Given the description of an element on the screen output the (x, y) to click on. 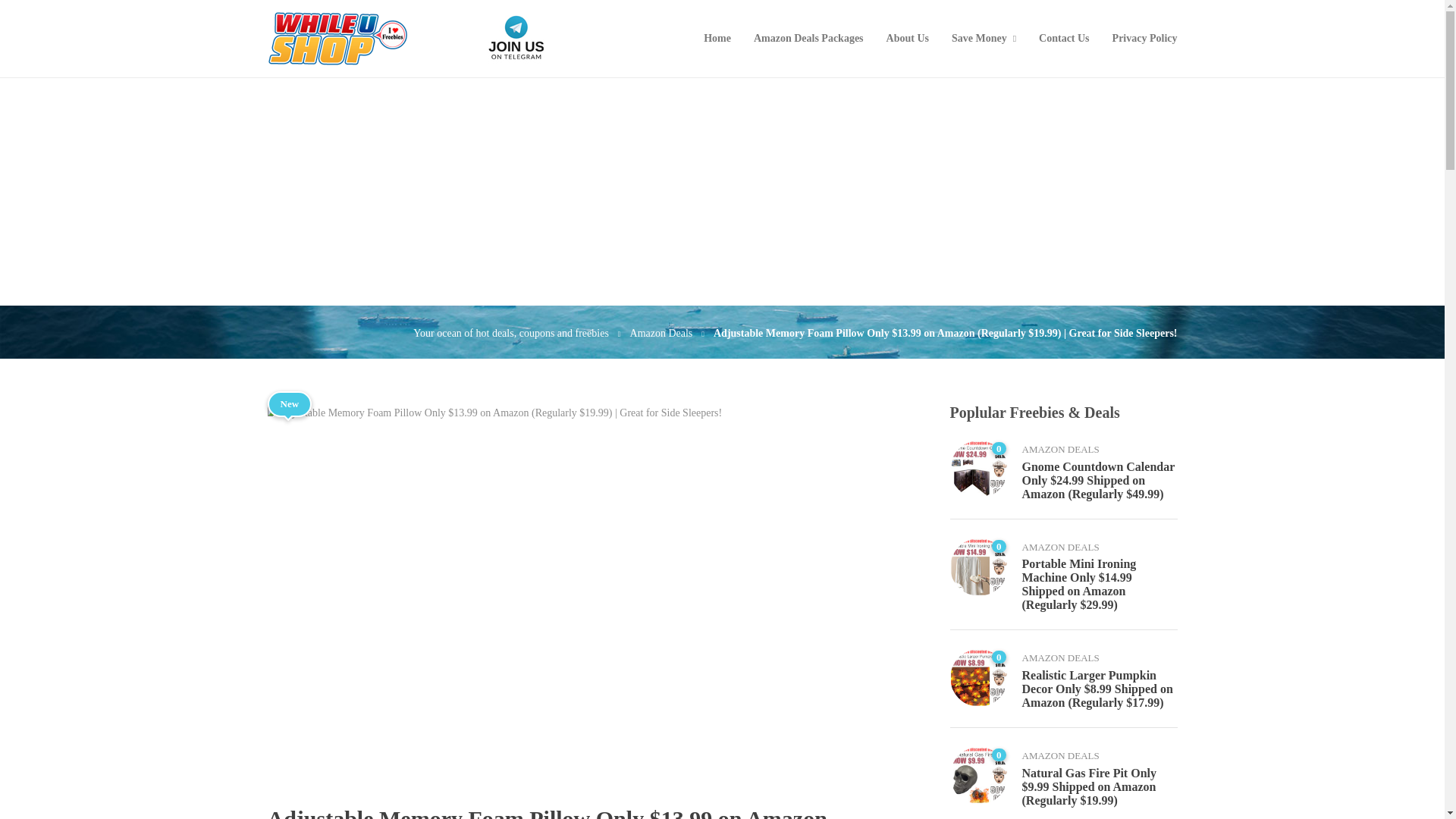
Amazon Deals Packages (808, 38)
Save Money (984, 38)
Your ocean of hot deals, coupons and freebies (510, 333)
Your ocean of hot deals, coupons and freebies (510, 333)
Contact Us (1064, 38)
About Us (907, 38)
Home (716, 38)
Amazon Deals (661, 333)
Privacy Policy (1144, 38)
